Given the description of an element on the screen output the (x, y) to click on. 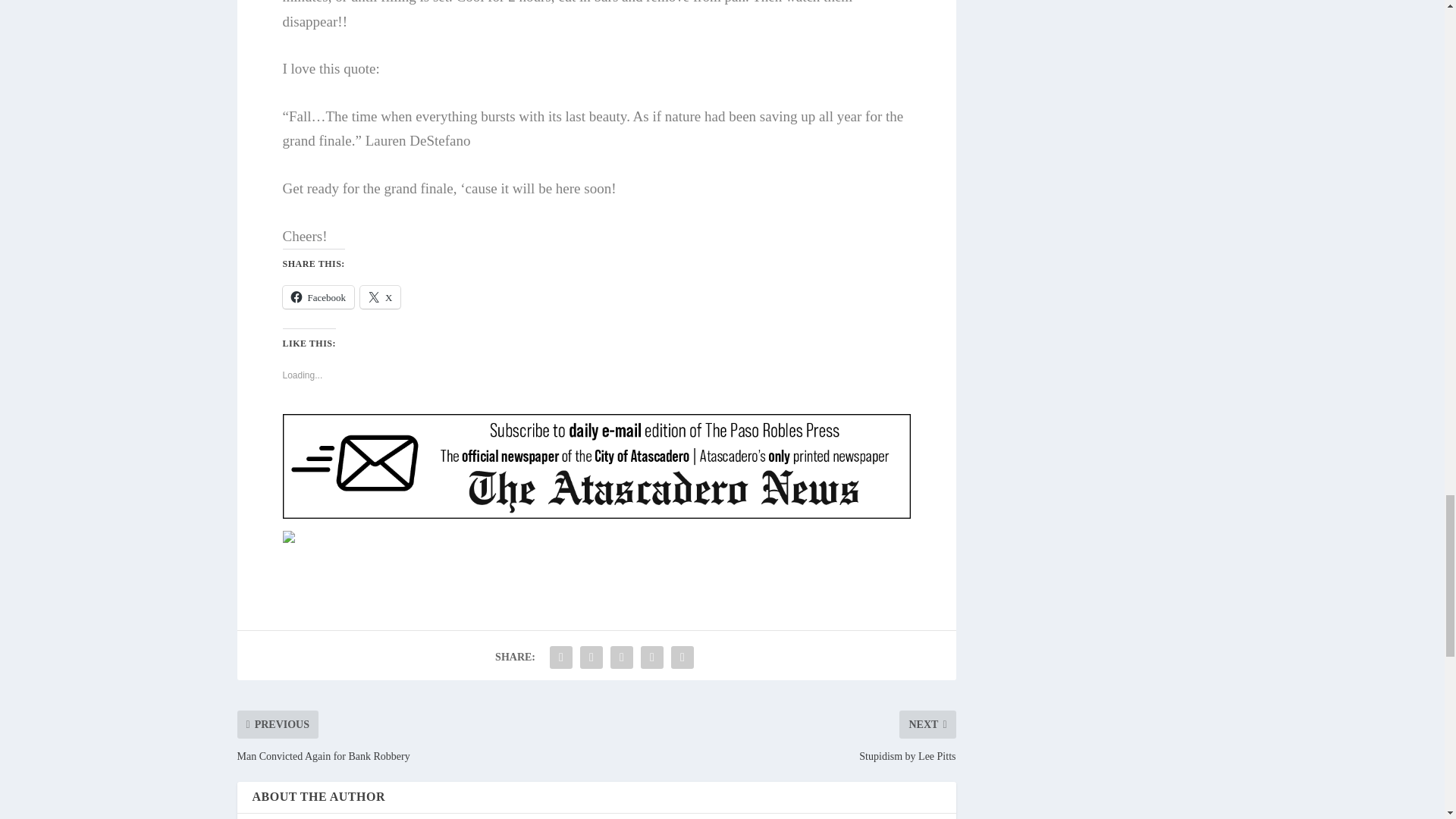
Click to share on Facebook (317, 296)
Share "One for the Boys" via Twitter (591, 657)
Facebook (317, 296)
Click to share on X (379, 296)
Share "One for the Boys" via Email (651, 657)
Share "One for the Boys" via Print (681, 657)
X (379, 296)
Share "One for the Boys" via LinkedIn (622, 657)
Share "One for the Boys" via Facebook (561, 657)
